Given the description of an element on the screen output the (x, y) to click on. 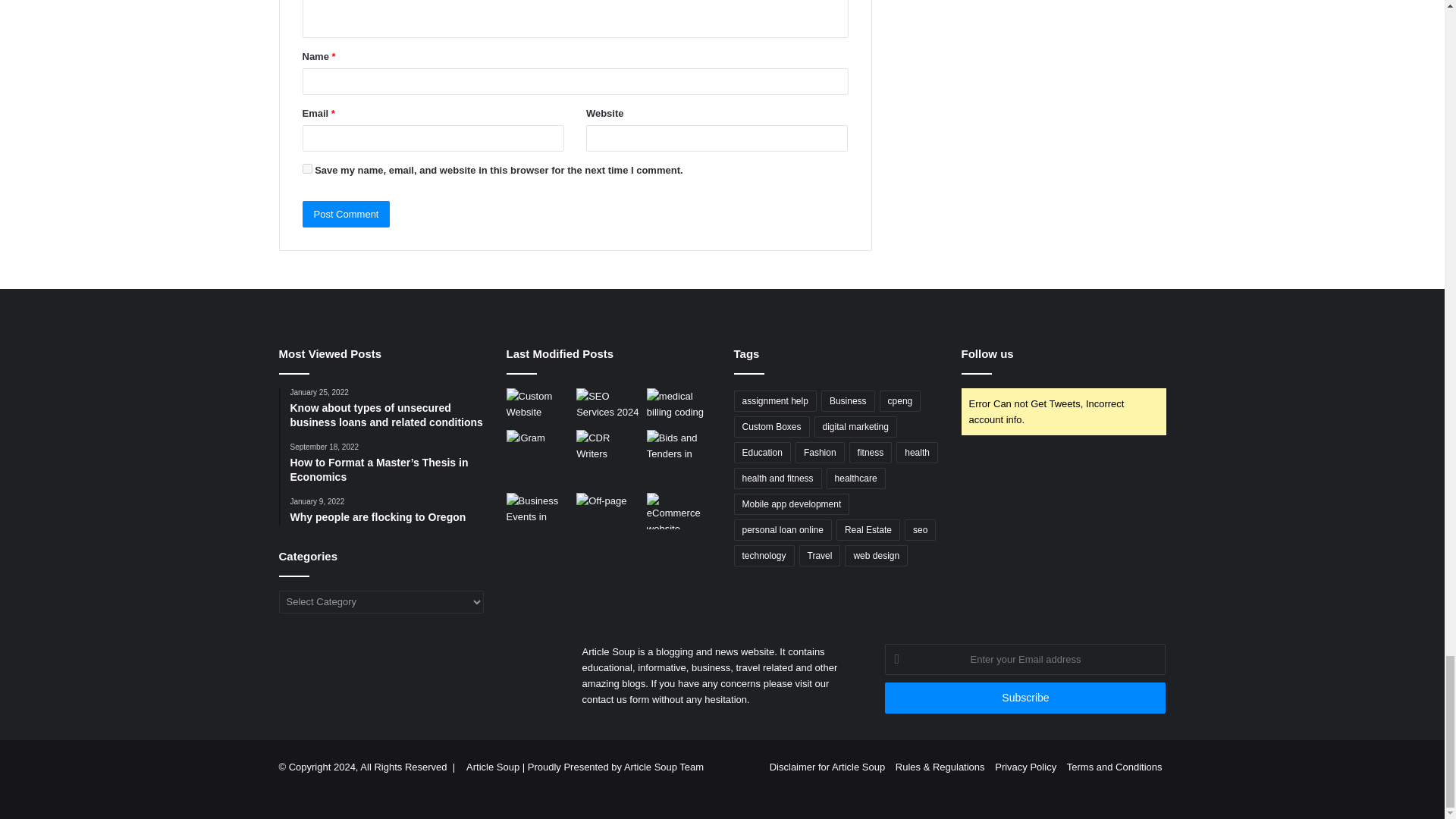
Post Comment (345, 213)
yes (306, 168)
Subscribe (1025, 697)
